Given the description of an element on the screen output the (x, y) to click on. 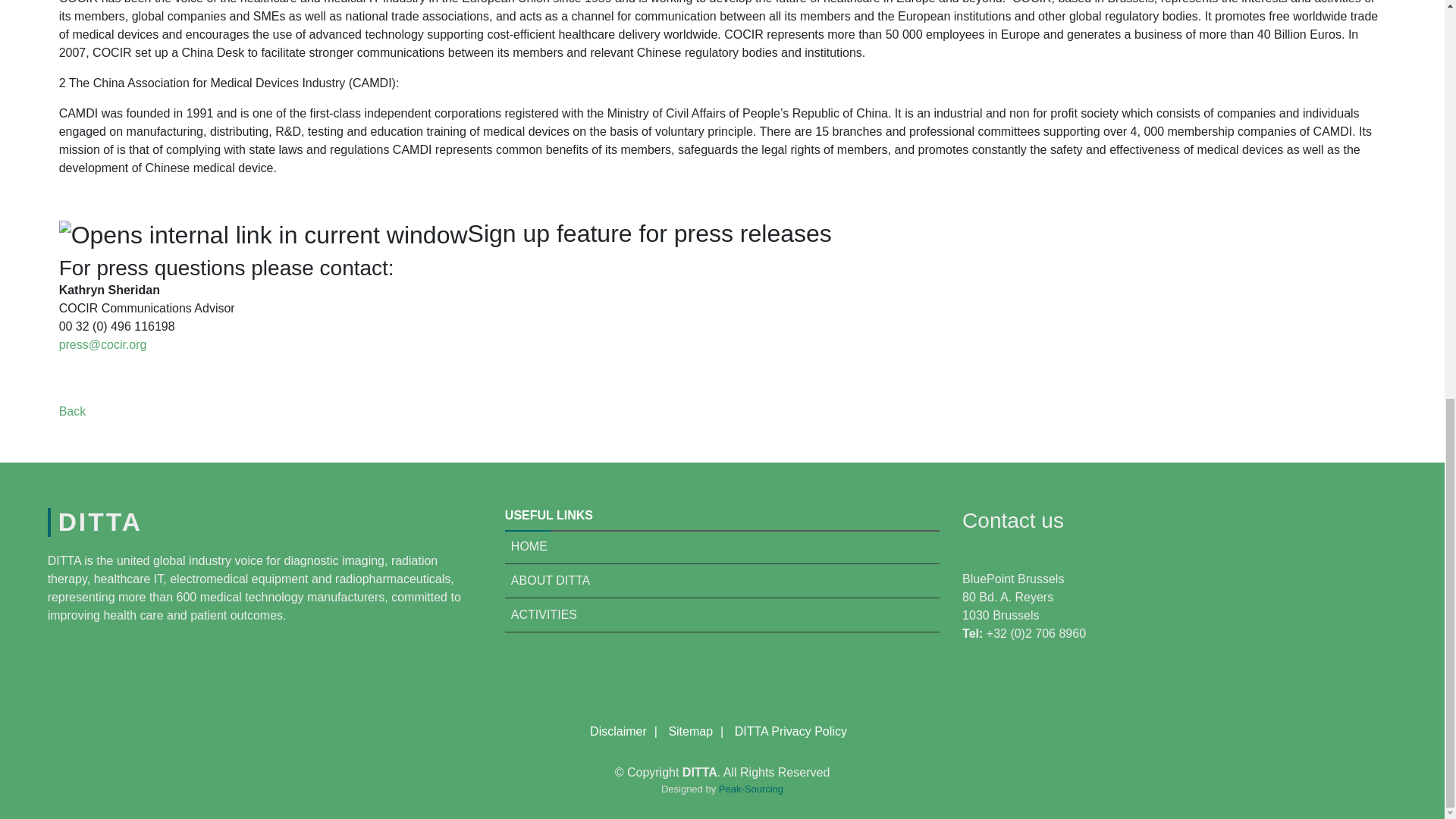
About DITTA (547, 580)
Home (526, 545)
Activities (540, 614)
